Given the description of an element on the screen output the (x, y) to click on. 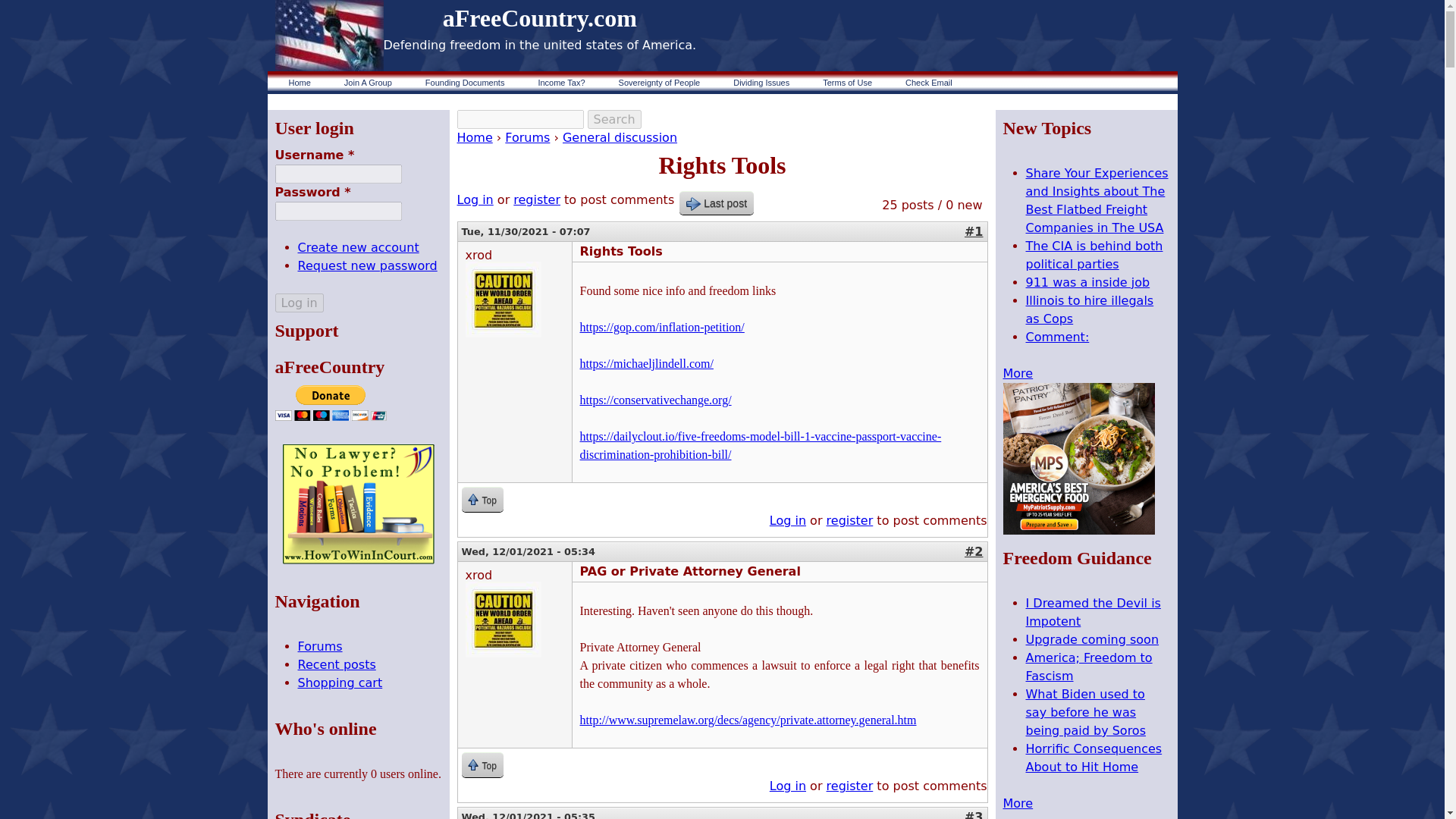
Log in (475, 199)
Log in (788, 785)
Jump to top of page (481, 498)
Home (539, 17)
xrod's picture (503, 619)
Top (481, 764)
Top (481, 498)
General discussion (619, 137)
Forums (527, 137)
Last post (716, 202)
Home (474, 137)
Jump to top of page (481, 764)
xrod's picture (503, 299)
Log in (788, 520)
Search (615, 118)
